Given the description of an element on the screen output the (x, y) to click on. 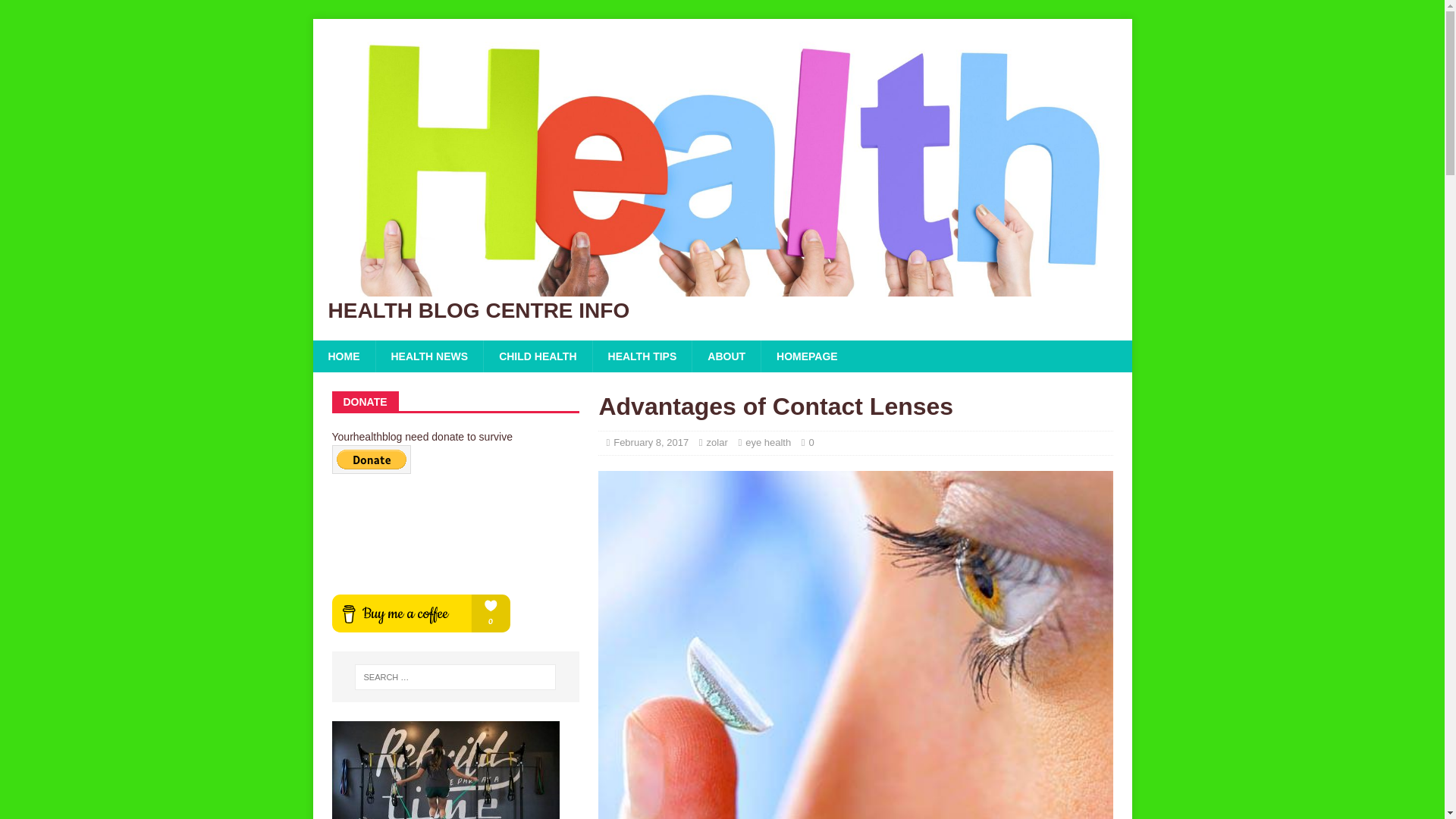
eye health (767, 441)
CHILD HEALTH (537, 356)
HOMEPAGE (806, 356)
zolar (717, 441)
HEALTH TIPS (642, 356)
Health Blog Centre Info (721, 310)
Search (56, 11)
HEALTH NEWS (428, 356)
ABOUT (725, 356)
HEALTH BLOG CENTRE INFO (721, 310)
February 8, 2017 (650, 441)
HOME (343, 356)
